Given the description of an element on the screen output the (x, y) to click on. 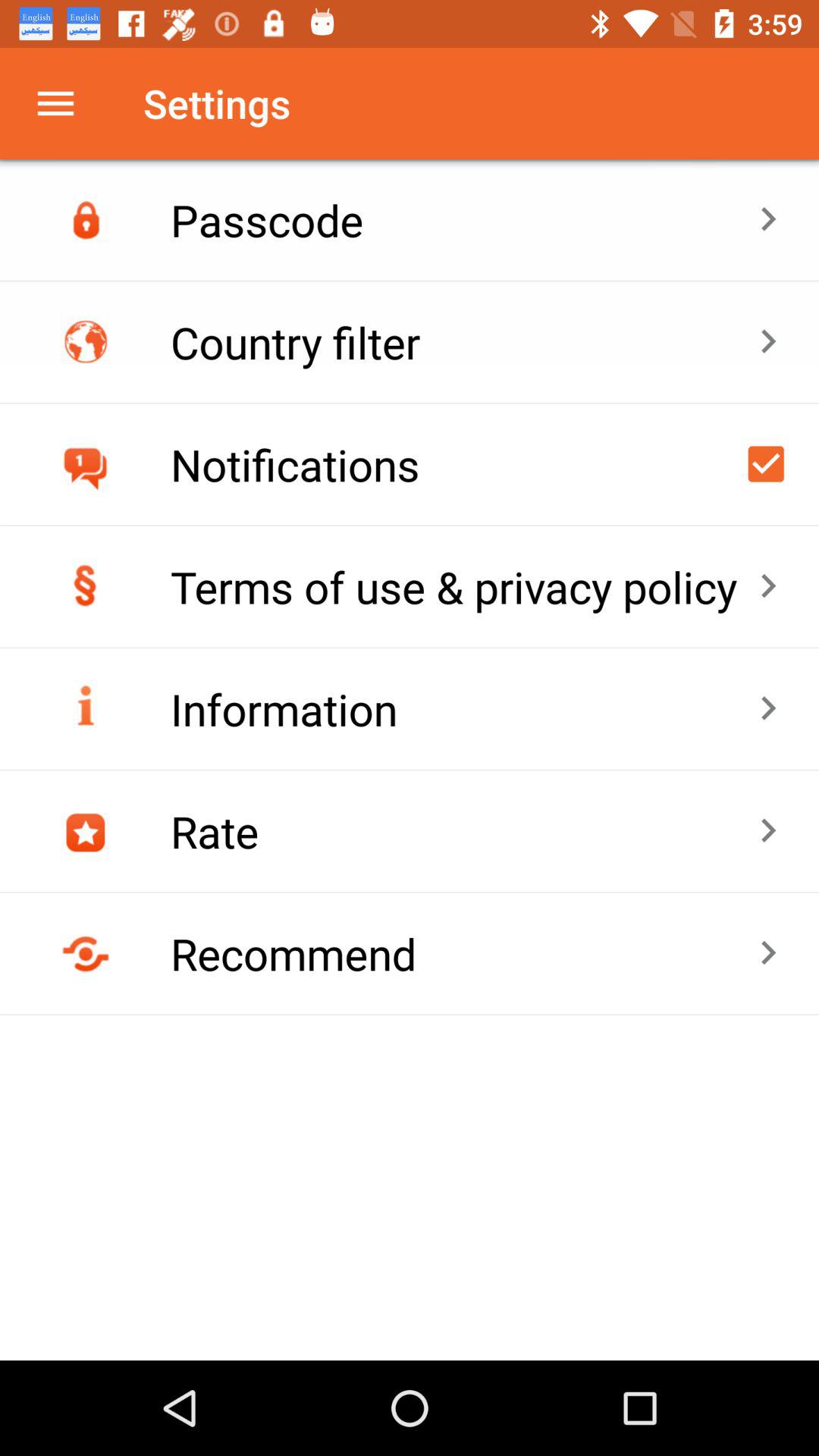
open information icon (464, 708)
